Given the description of an element on the screen output the (x, y) to click on. 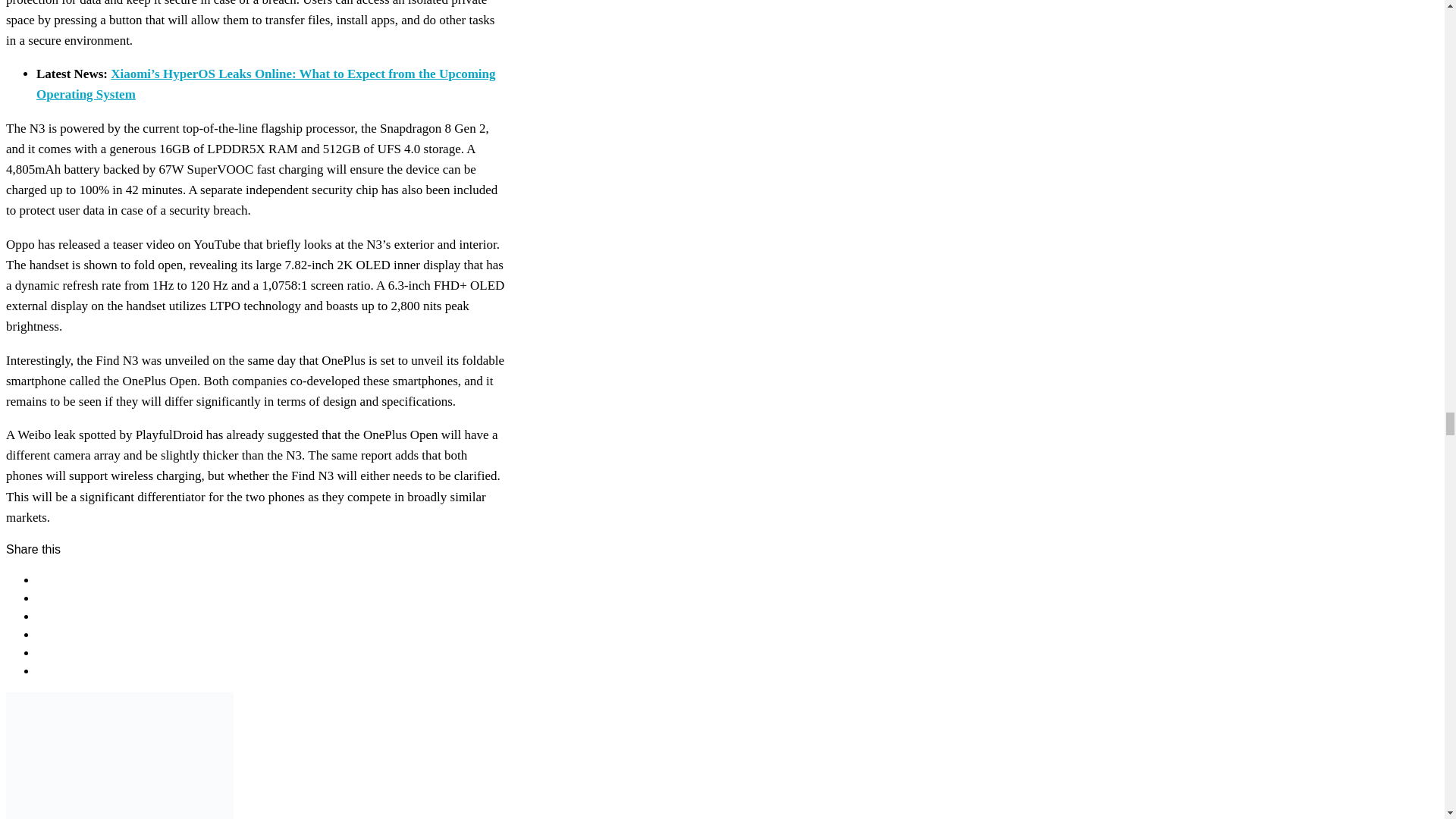
Whatsapp (63, 634)
Facebook (62, 579)
Pinterest (60, 615)
Twitter (53, 597)
